Given the description of an element on the screen output the (x, y) to click on. 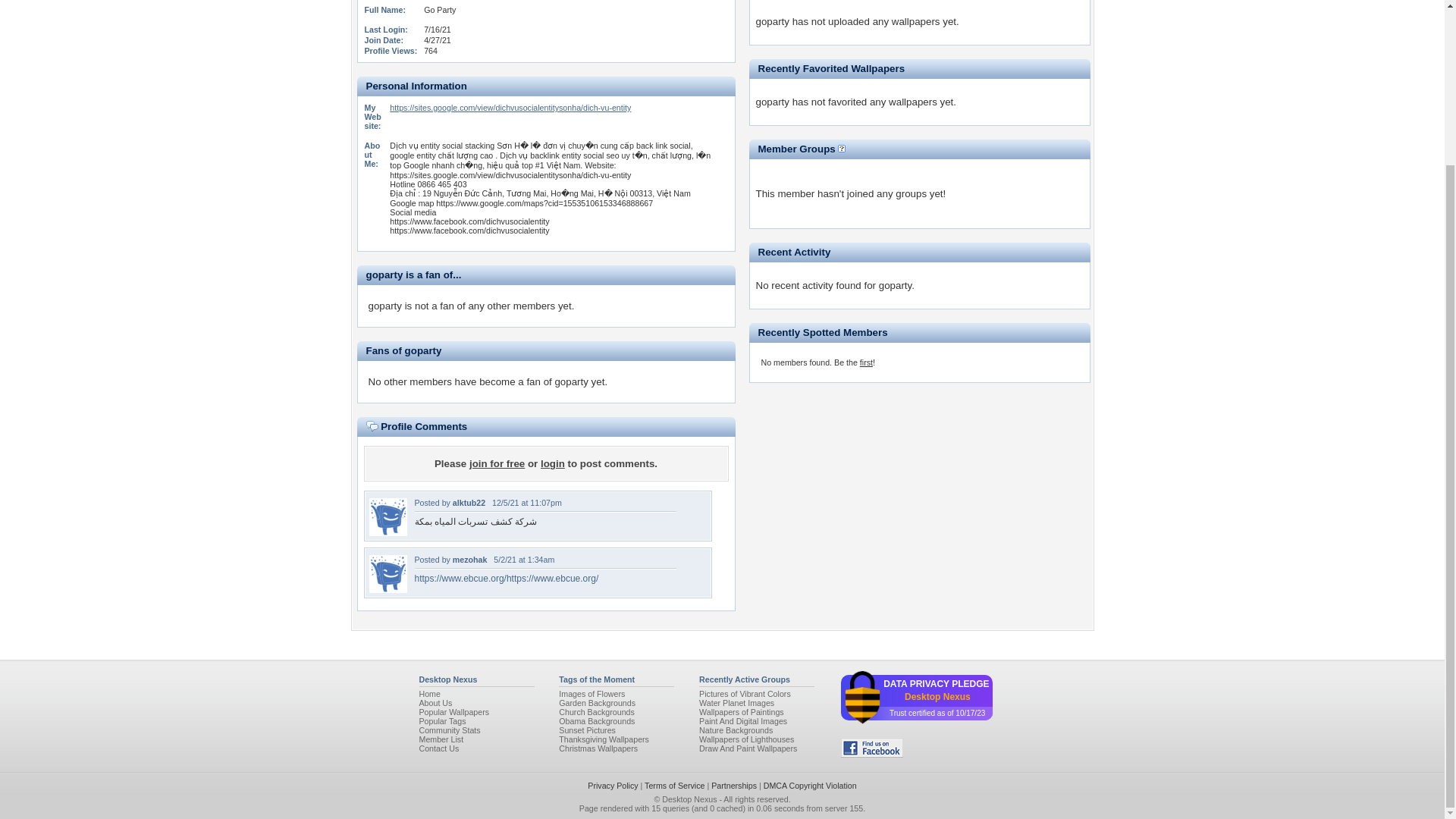
alktub22 (387, 532)
join for free (496, 463)
login (552, 463)
alktub22 (468, 501)
alktub22 (468, 501)
mezohak (387, 589)
